Given the description of an element on the screen output the (x, y) to click on. 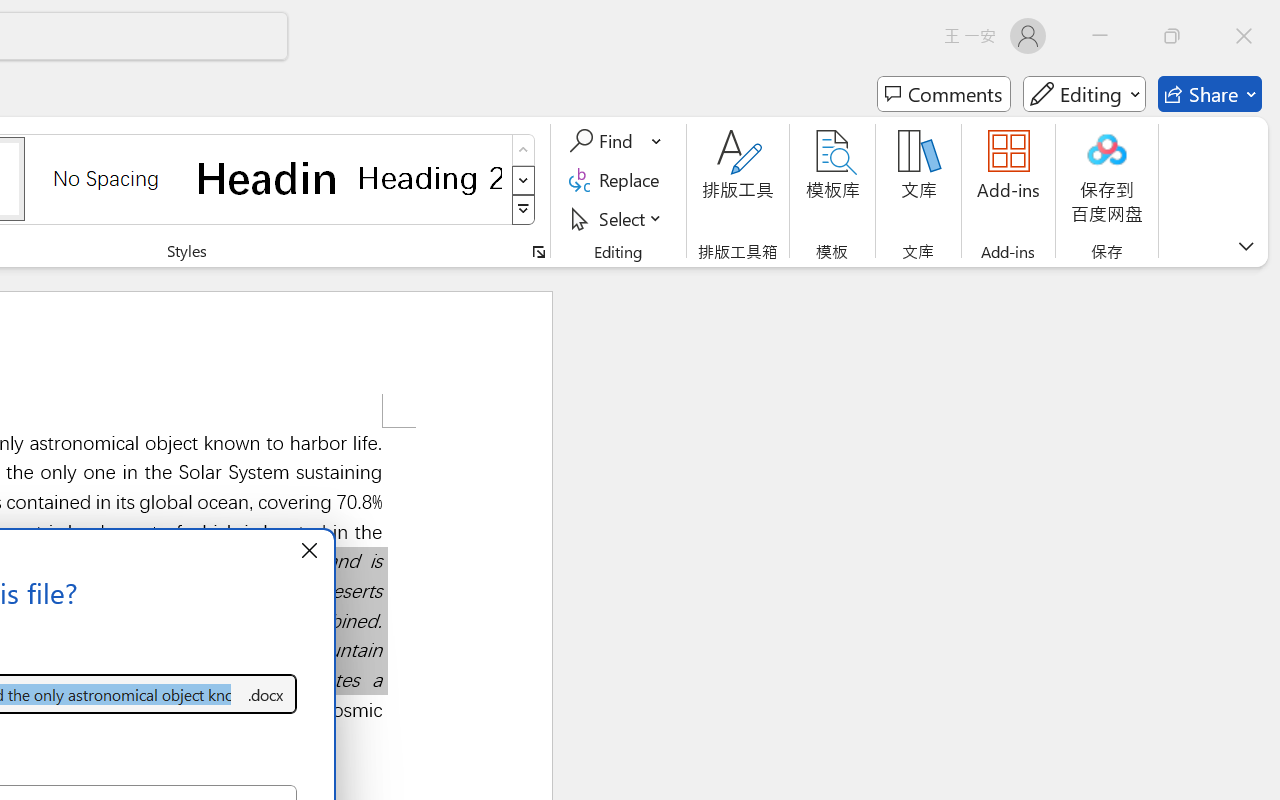
Heading 1 (267, 178)
Row up (523, 150)
Select (618, 218)
Row Down (523, 180)
Styles... (538, 252)
Heading 2 (429, 178)
Replace... (617, 179)
